Given the description of an element on the screen output the (x, y) to click on. 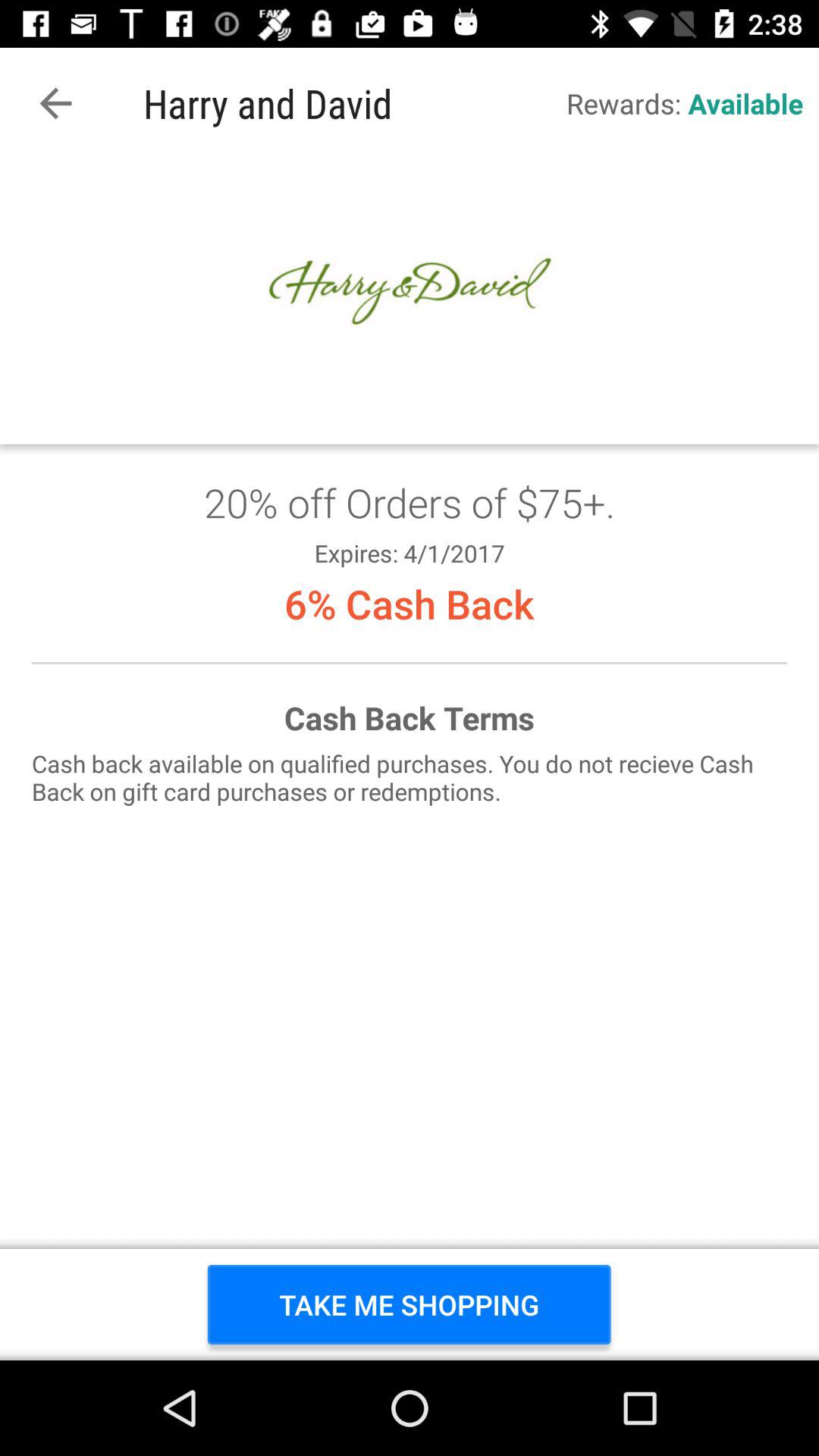
tap item to the left of the harry and david item (55, 103)
